Given the description of an element on the screen output the (x, y) to click on. 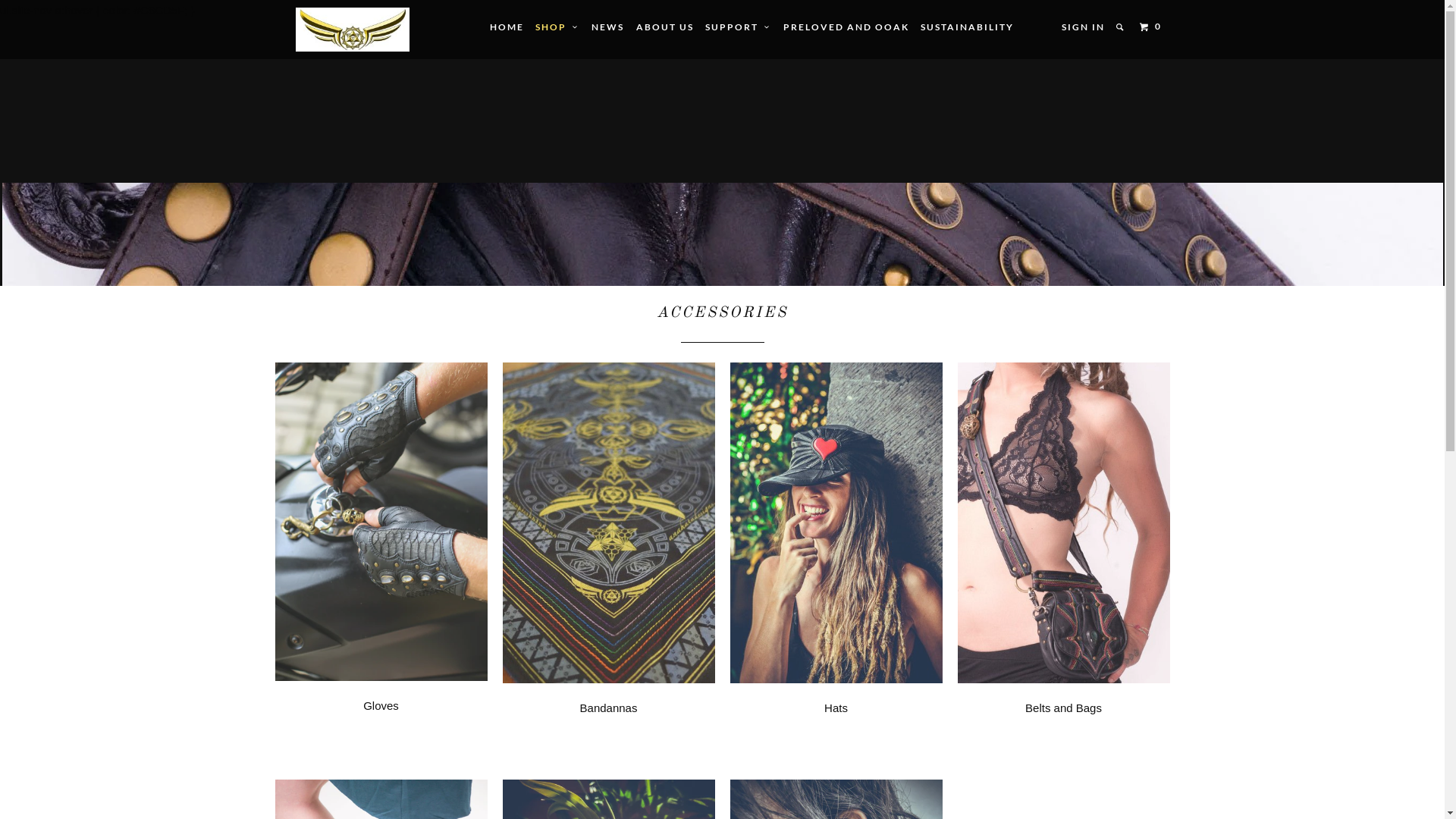
SHOP   Element type: text (557, 27)
ABOUT US Element type: text (664, 27)
NEWS Element type: text (607, 27)
Hats Element type: text (835, 565)
Bandannas Element type: text (608, 565)
SIGN IN Element type: text (1082, 27)
Gloves Element type: text (380, 563)
PRELOVED AND OOAK Element type: text (846, 27)
HOME Element type: text (506, 27)
0 Element type: text (1151, 27)
anahata designs/infiniti now Element type: hover (352, 29)
Belts and Bags Element type: text (1063, 565)
Search Element type: hover (1121, 27)
SUPPORT   Element type: text (738, 27)
SUSTAINABILITY Element type: text (966, 27)
